Given the description of an element on the screen output the (x, y) to click on. 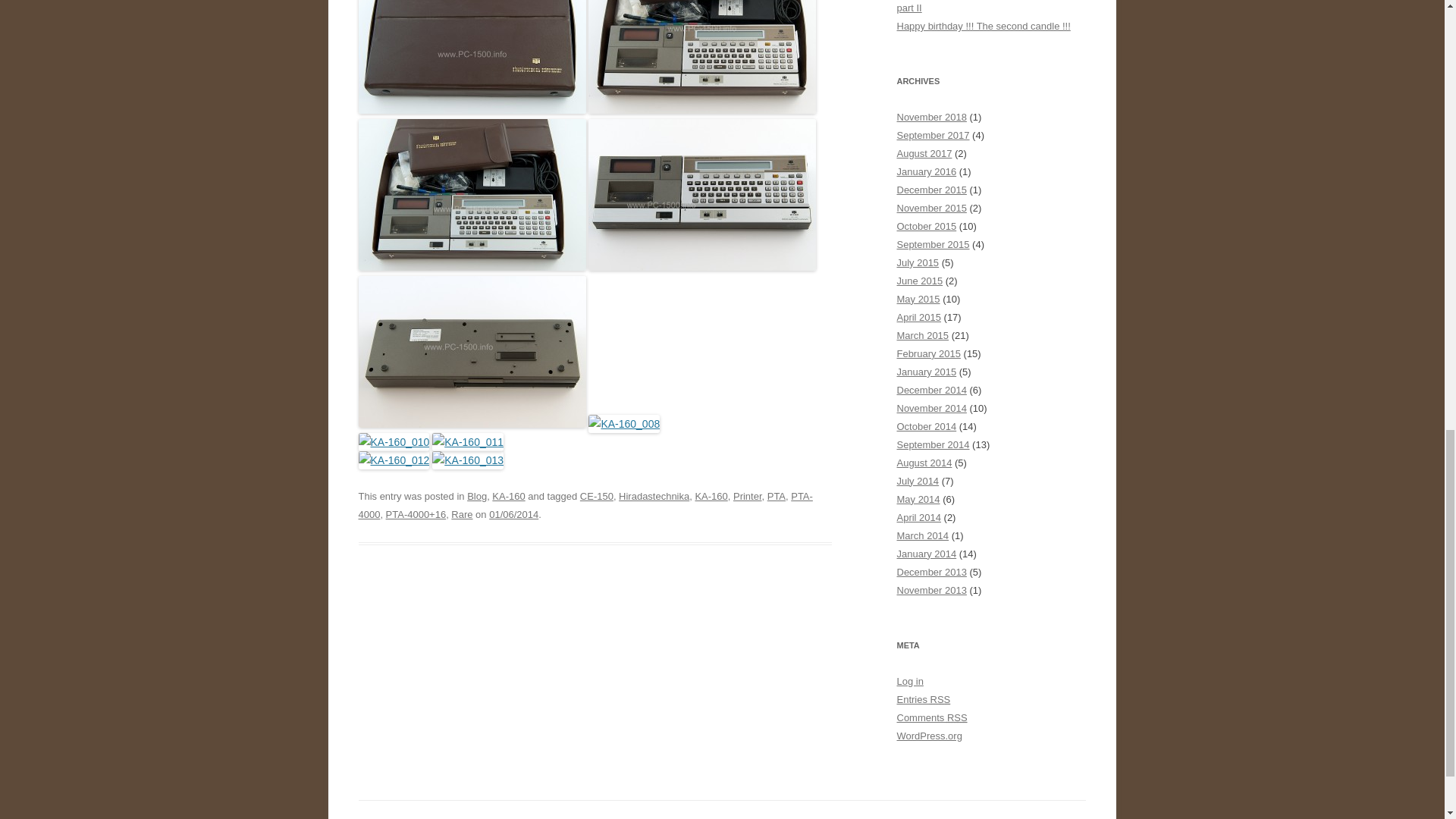
14:46 (513, 514)
Really Simple Syndication (940, 699)
